Given the description of an element on the screen output the (x, y) to click on. 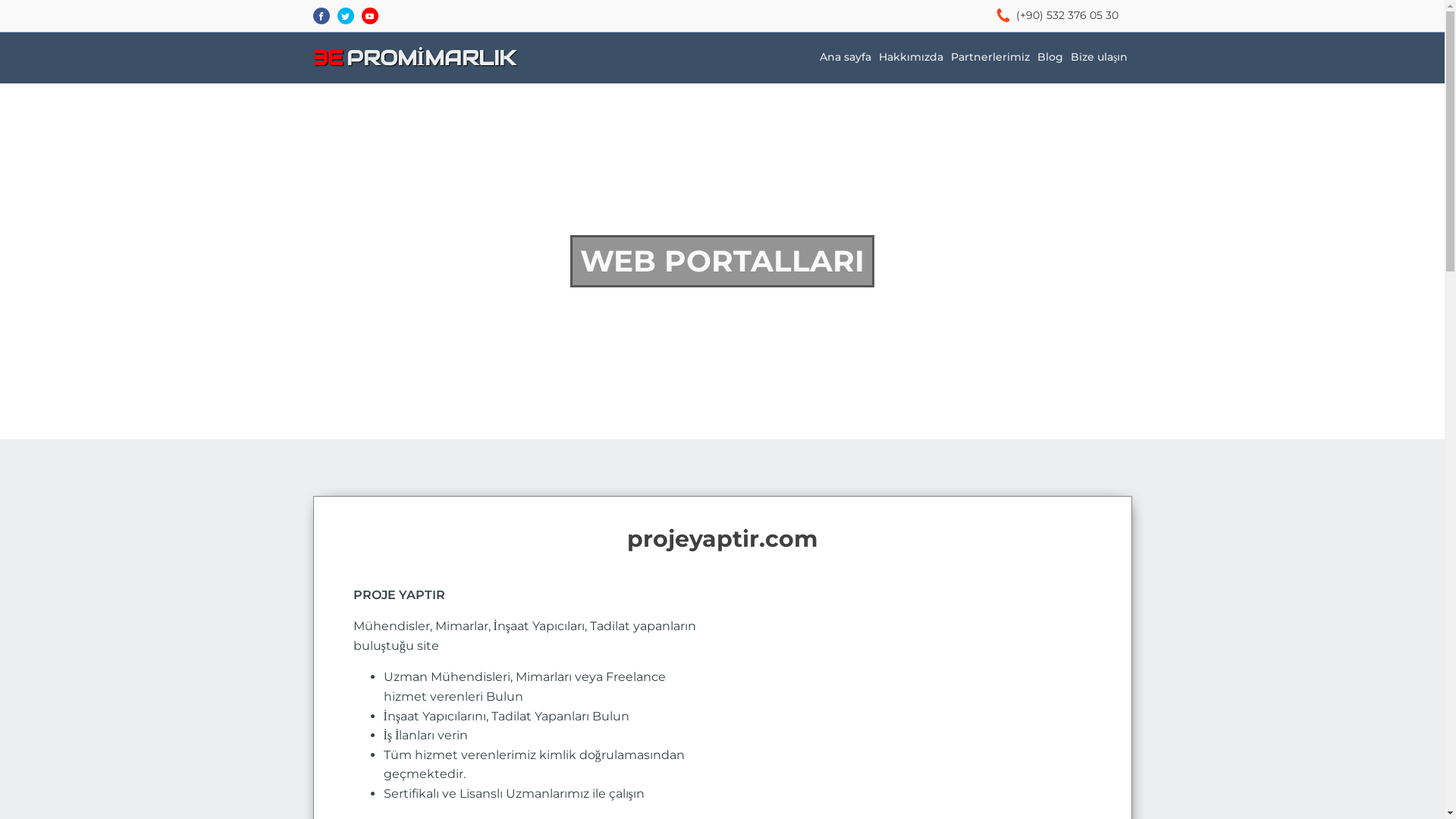
Ana sayfa Element type: text (845, 57)
(+90) 532 376 05 30 Element type: text (1067, 15)
Blog Element type: text (1049, 57)
Partnerlerimiz Element type: text (990, 57)
